Given the description of an element on the screen output the (x, y) to click on. 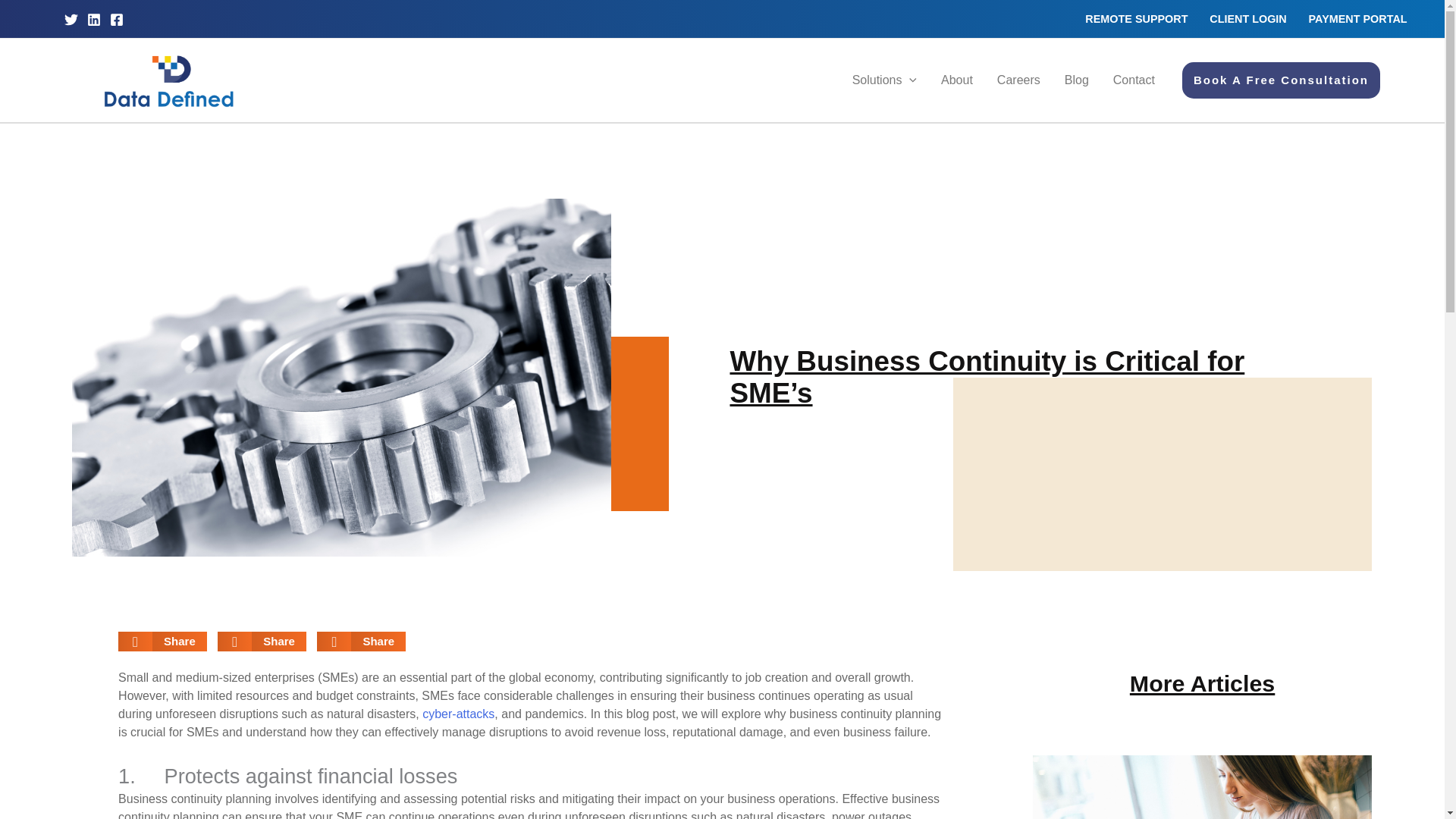
REMOTE SUPPORT (1136, 18)
Book A Free Consultation (1281, 80)
PAYMENT PORTAL (1357, 18)
CLIENT LOGIN (1247, 18)
Get Ahead: Upcoming IT Trends in 2023 (458, 713)
Solutions (884, 80)
